Given the description of an element on the screen output the (x, y) to click on. 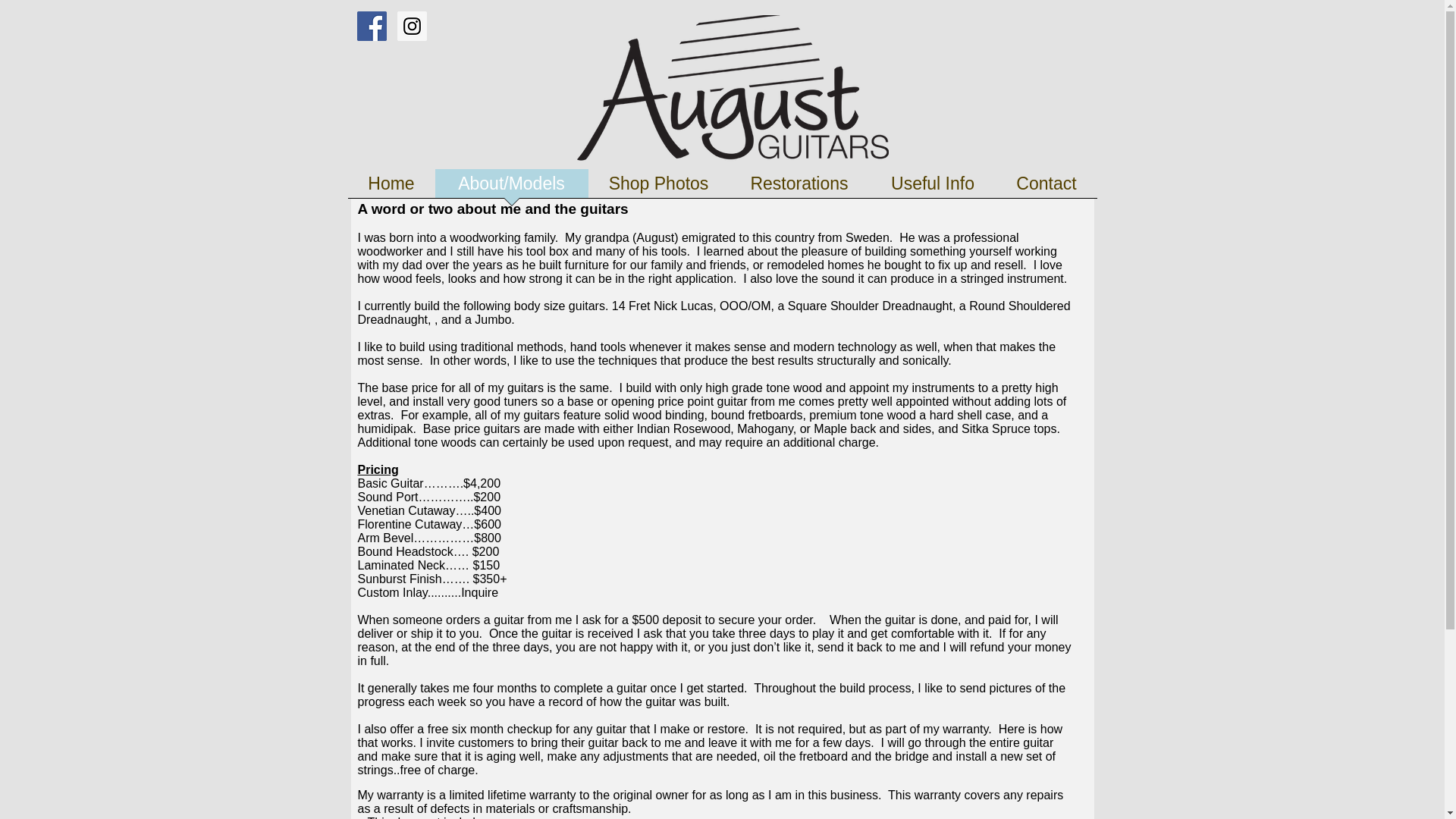
Facebook Like (1059, 24)
Home (390, 188)
August Guitars (732, 88)
Useful Info (932, 188)
Contact (1046, 188)
Shop Photos (658, 188)
Restorations (799, 188)
